Given the description of an element on the screen output the (x, y) to click on. 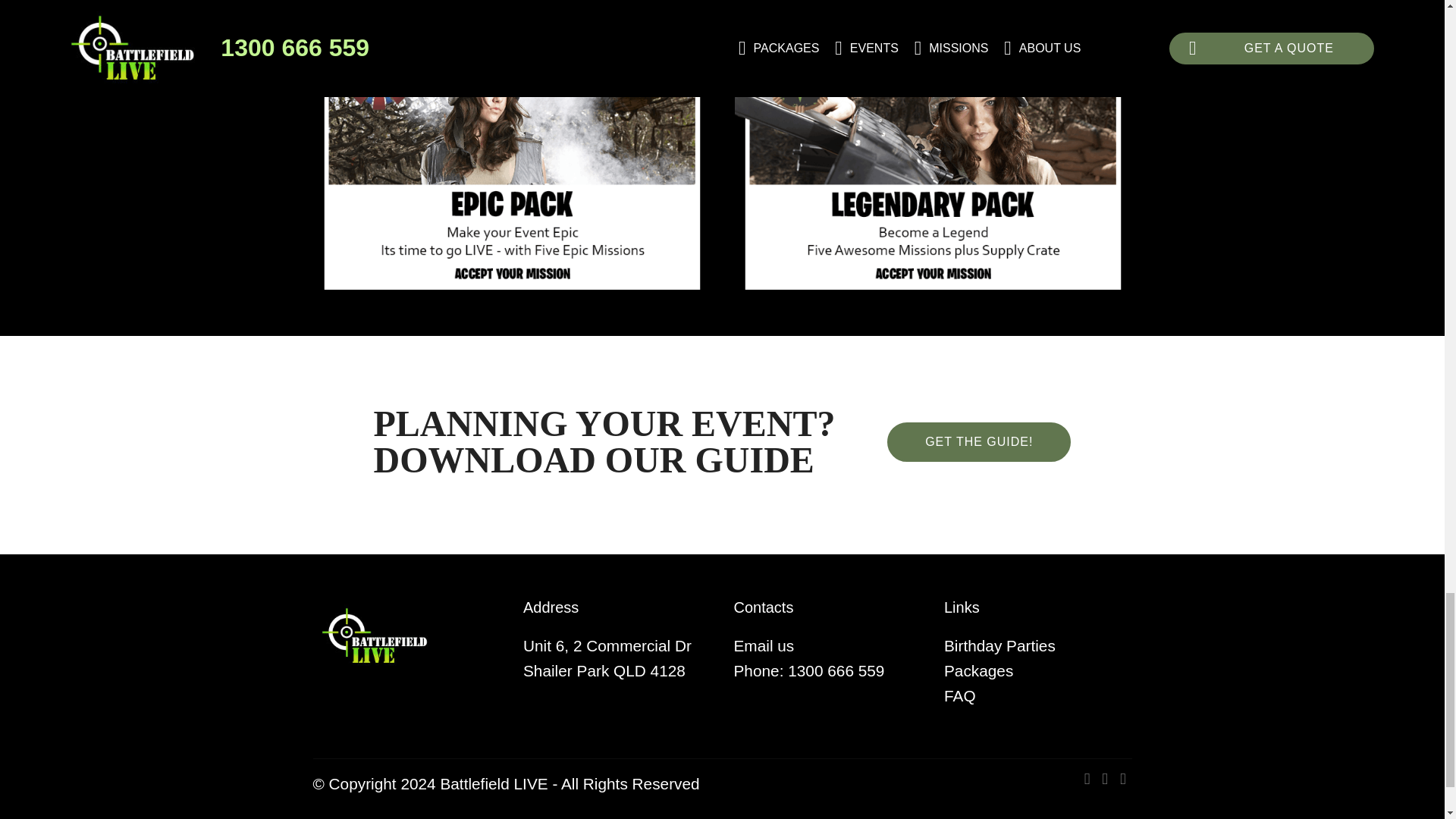
1300 666 559   (838, 670)
Birthday Parties (999, 645)
legendary pack (932, 167)
epic pack (512, 167)
GET THE GUIDE! (978, 441)
Email us (763, 645)
Packages (978, 670)
FAQ (959, 695)
